Given the description of an element on the screen output the (x, y) to click on. 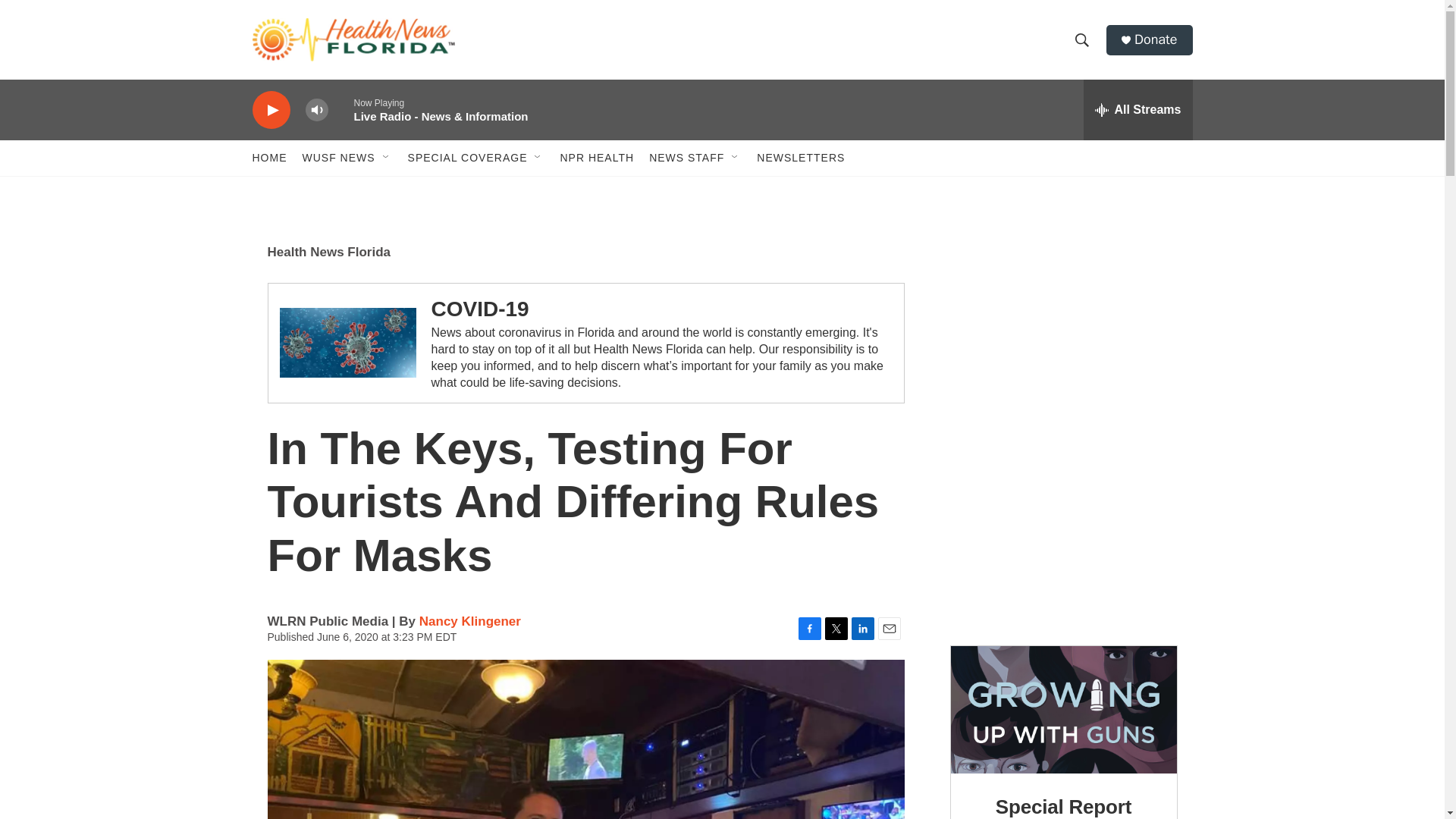
3rd party ad content (1062, 331)
3rd party ad content (1063, 536)
